Given the description of an element on the screen output the (x, y) to click on. 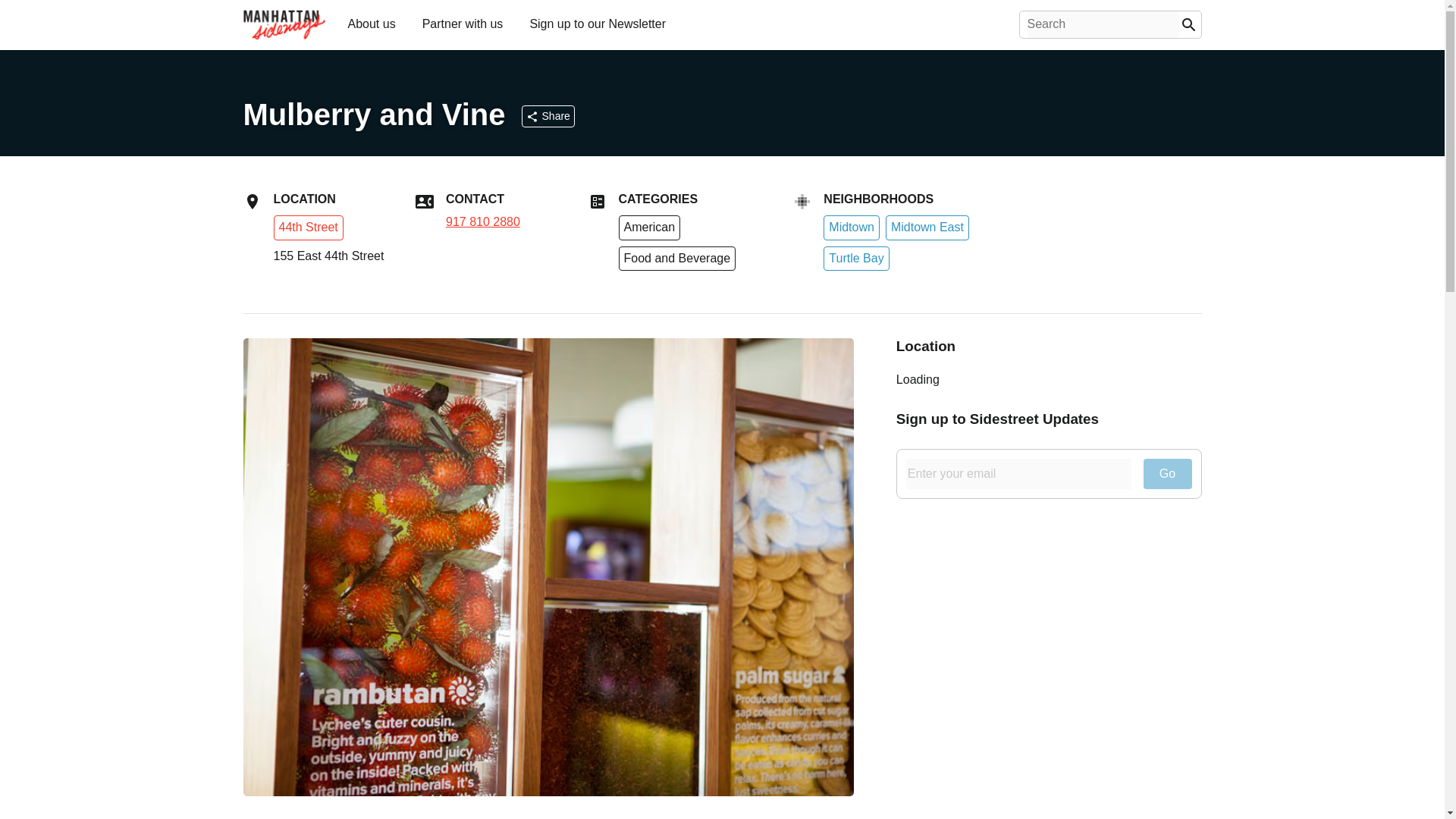
44th Street (307, 226)
Share (548, 115)
Sign up to our Newsletter (596, 23)
44th Street (307, 227)
Midtown East (927, 227)
Turtle Bay (856, 258)
Partner with us (462, 23)
Food and Beverage (677, 258)
About us (371, 23)
American (649, 227)
